Given the description of an element on the screen output the (x, y) to click on. 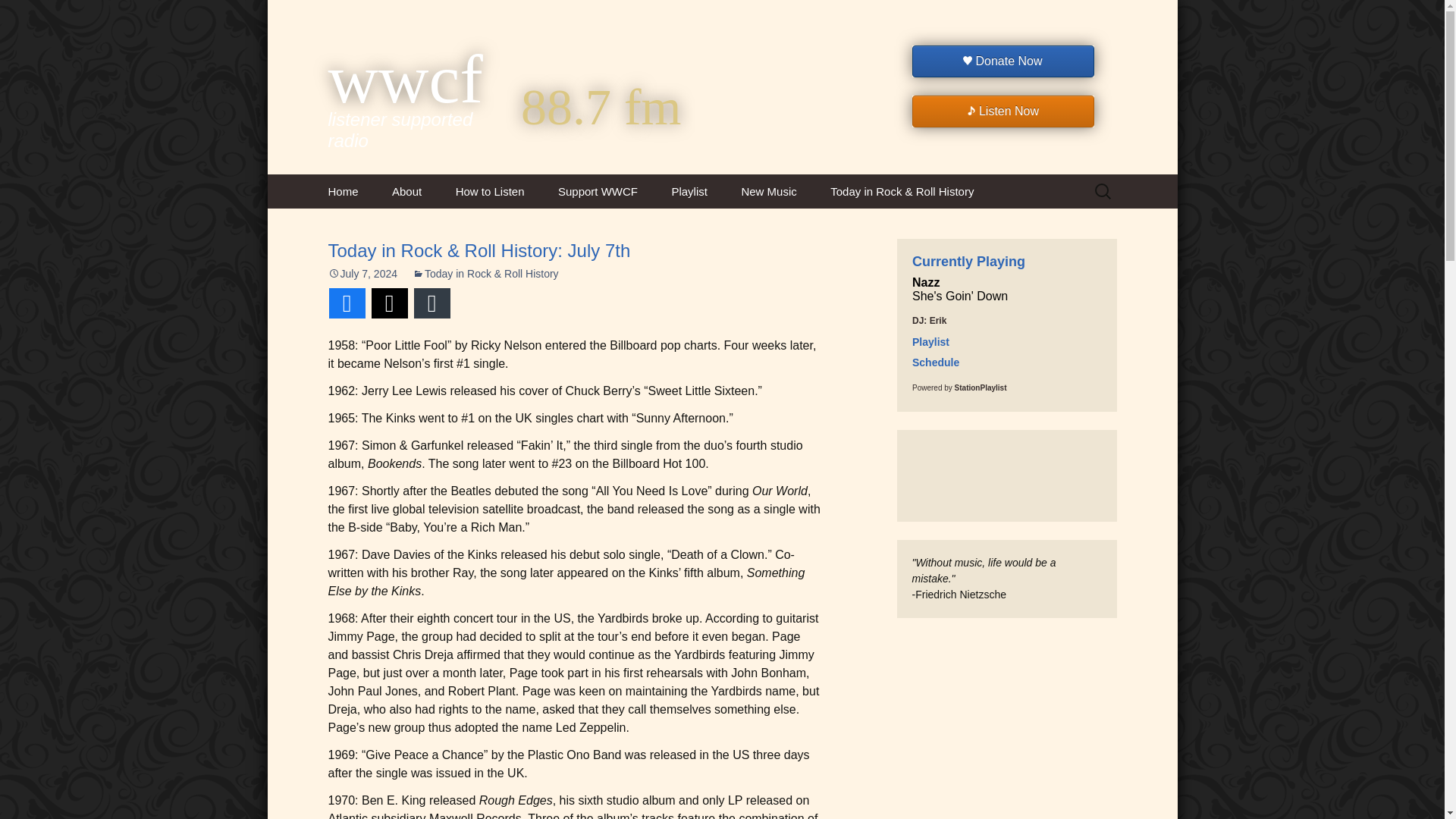
New Music (767, 191)
Donate Now (1002, 60)
Donate to WWCF (617, 225)
Support WWCF (597, 191)
Search (18, 15)
Share this article on Twitter (389, 303)
How to Listen (490, 191)
wwcf (421, 75)
